Given the description of an element on the screen output the (x, y) to click on. 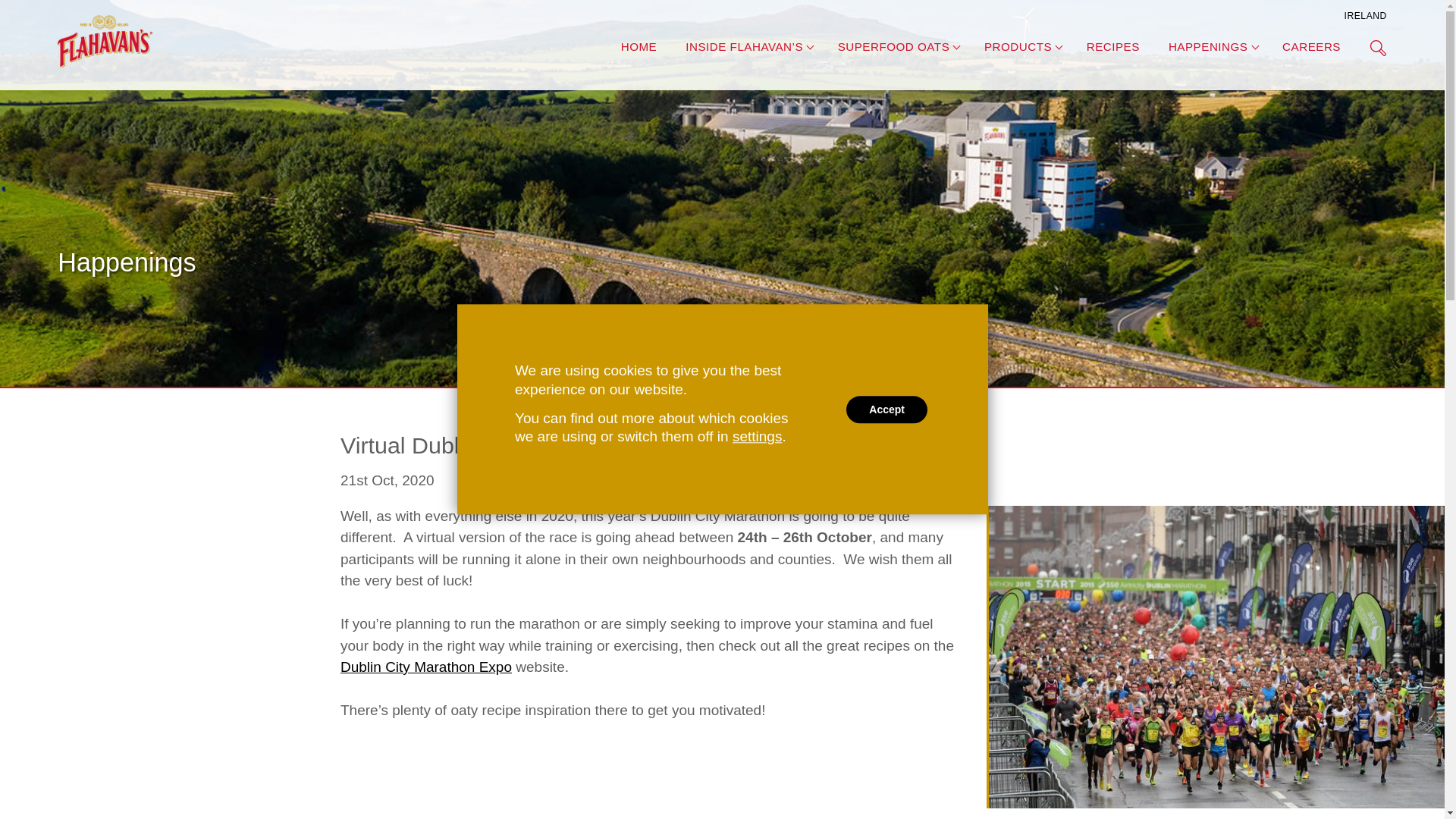
PRODUCTS (1017, 49)
SUPERFOOD OATS (894, 49)
HAPPENINGS (1208, 49)
HOME (639, 49)
FLAHAVAN'S, NOT YOUR RUN OF THE MILL OATS (105, 41)
SEARCH (1378, 47)
IRELAND (1365, 18)
RECIPES (1113, 49)
CAREERS (1311, 49)
Dublin City Marathon Expo (426, 666)
